Given the description of an element on the screen output the (x, y) to click on. 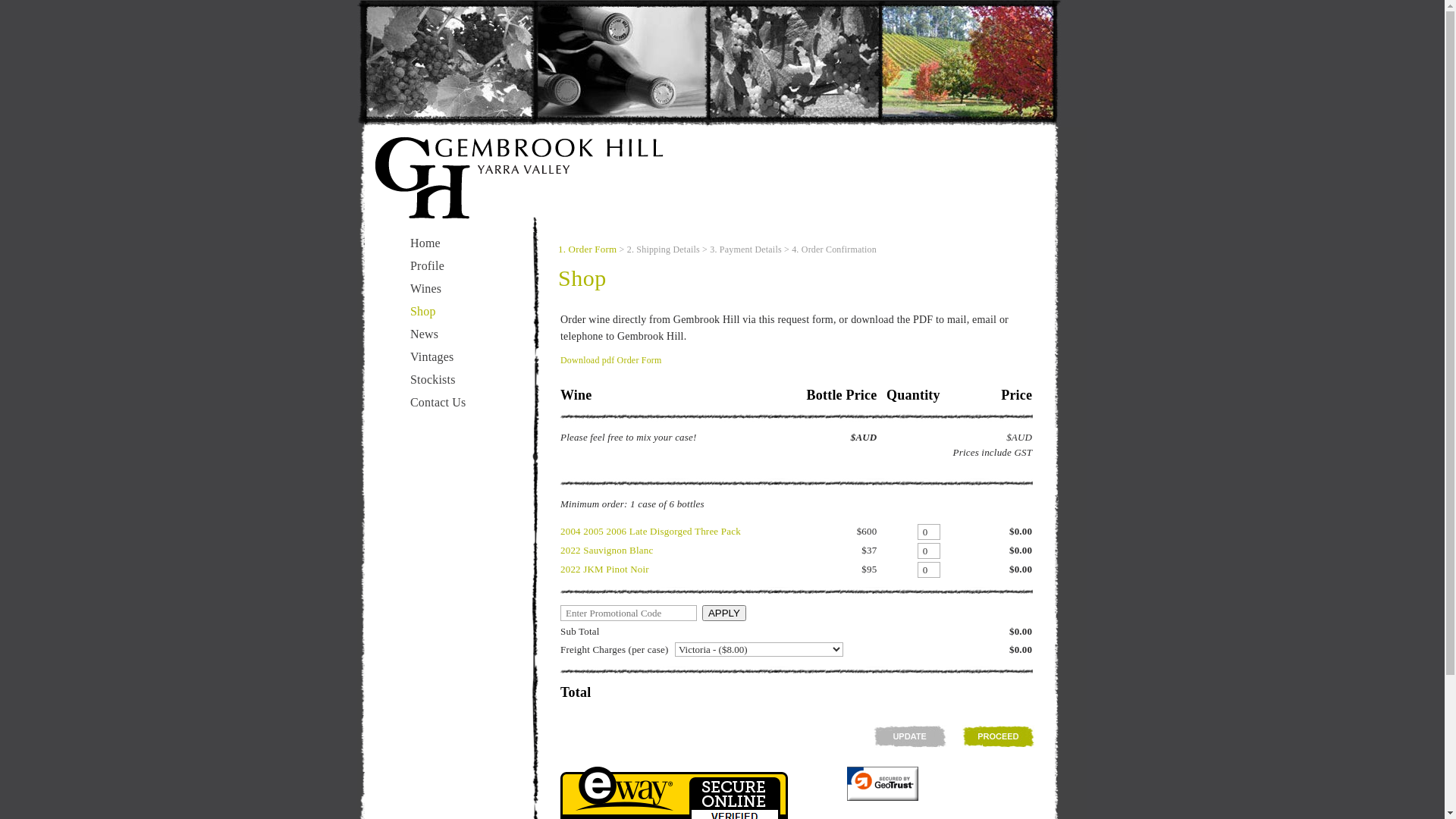
proceedShipping Element type: text (998, 735)
Update Element type: hover (998, 735)
Update Element type: hover (910, 735)
Wines Element type: text (425, 288)
2004 2005 2006 Late Disgorged Three Pack Element type: text (650, 530)
Shop Element type: text (423, 310)
Vintages Element type: text (432, 356)
2022 JKM Pinot Noir Element type: text (604, 568)
Contact Us Element type: text (438, 401)
News Element type: text (424, 333)
Stockists Element type: text (432, 379)
Home Element type: text (425, 242)
Profile Element type: text (427, 265)
cartUpdate Element type: text (910, 735)
APPLY Element type: text (724, 613)
Download pdf Order Form Element type: text (611, 359)
2022 Sauvignon Blanc Element type: text (606, 549)
